Given the description of an element on the screen output the (x, y) to click on. 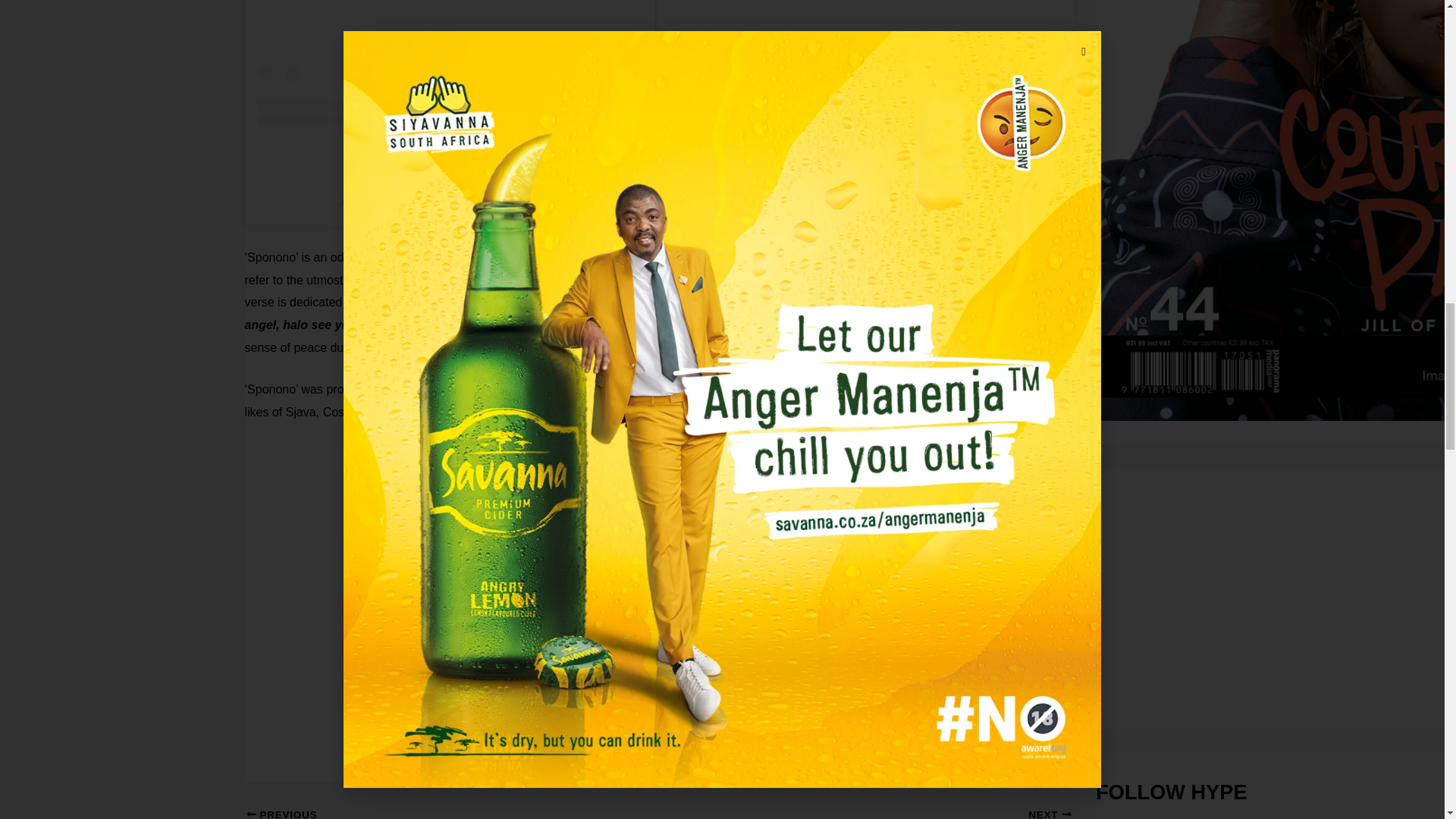
3rd party ad content (1209, 609)
Kashcpt teases unplugged session of 'LOVE LETTERS' (411, 813)
